Given the description of an element on the screen output the (x, y) to click on. 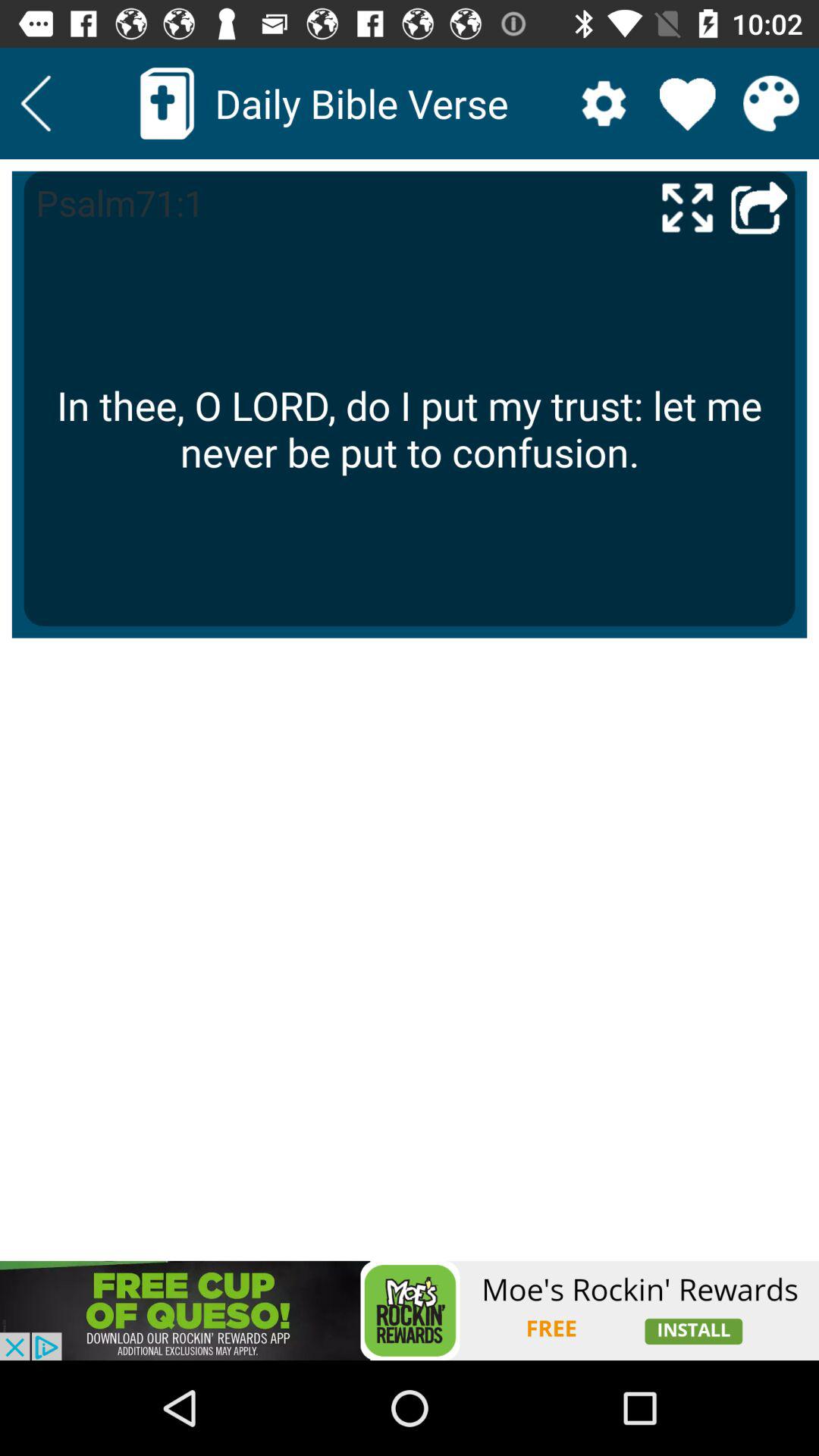
view advertisement (409, 1310)
